Given the description of an element on the screen output the (x, y) to click on. 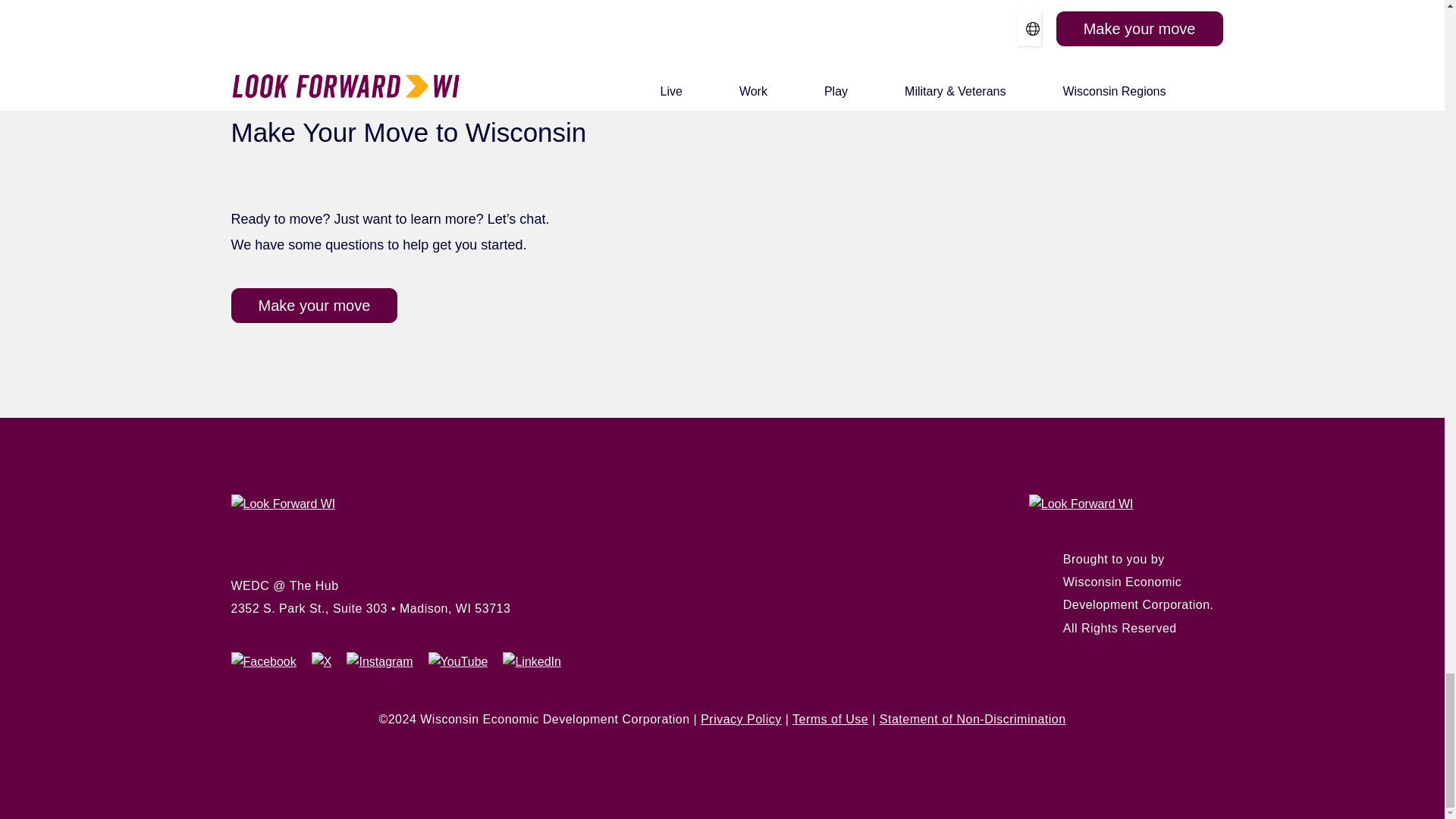
Privacy Policy (740, 718)
Terms of Use (829, 718)
Statement of Non-Discrimination (972, 718)
Make your move (313, 305)
